Given the description of an element on the screen output the (x, y) to click on. 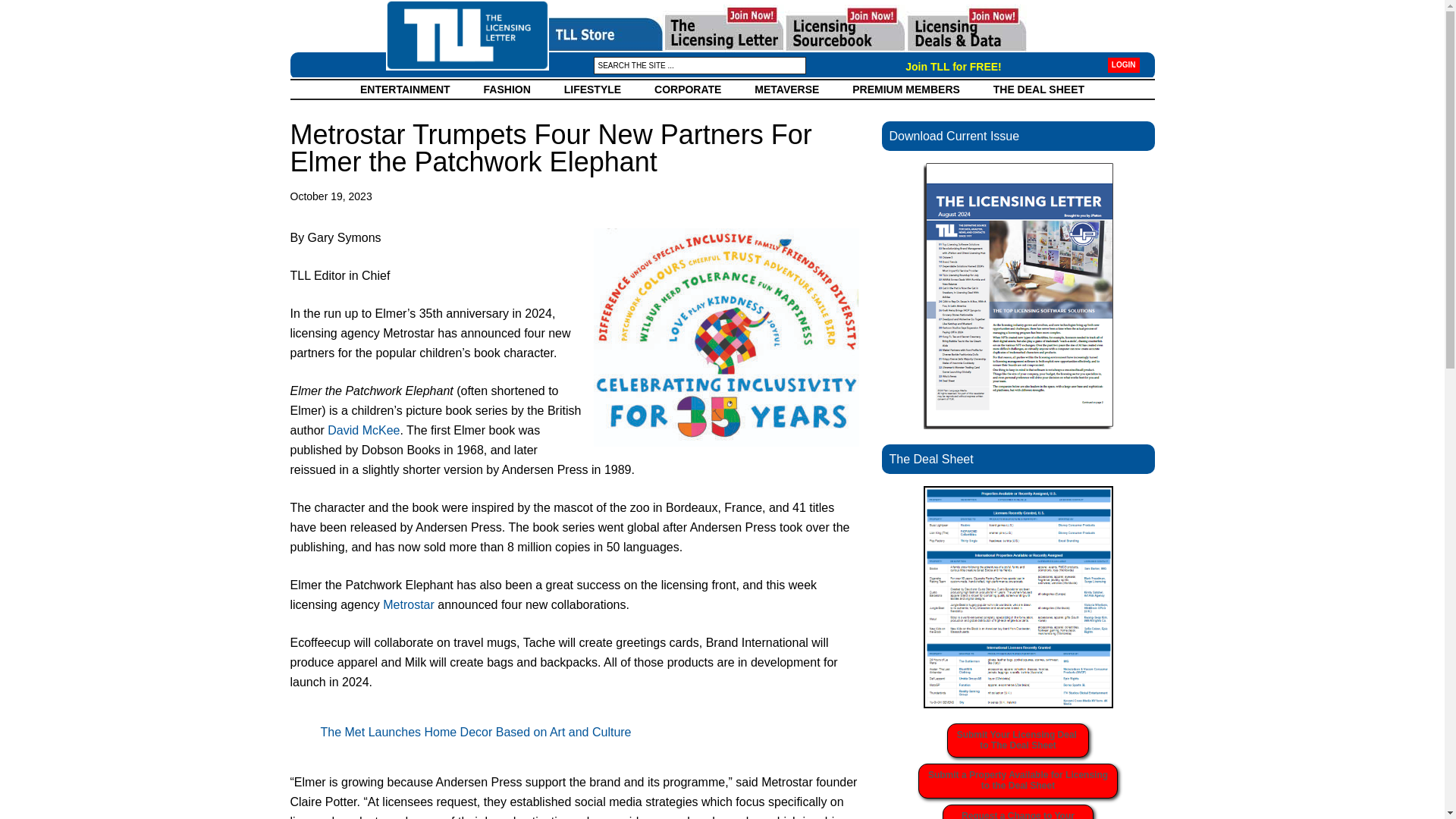
David McKee (1018, 740)
FASHION (362, 430)
David McKee (507, 89)
LIFESTYLE (362, 430)
Metrostar (592, 89)
The Met Launches Home Decor Based on Art and Culture (1017, 811)
PREMIUM MEMBERS (407, 604)
THE DEAL SHEET (475, 731)
